Given the description of an element on the screen output the (x, y) to click on. 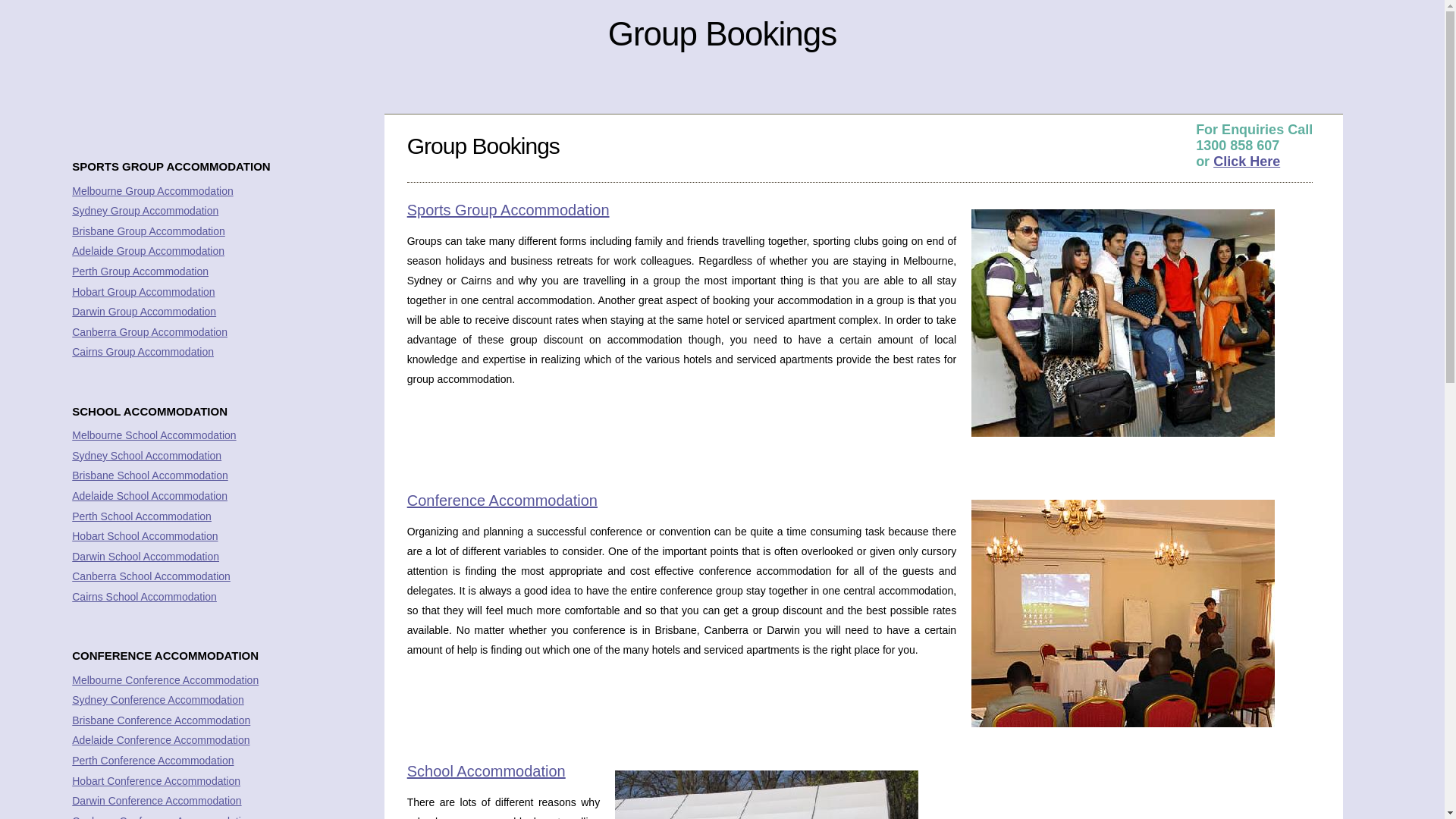
Brisbane Group Accommodation Element type: text (148, 231)
Perth Group Accommodation Element type: text (140, 271)
Canberra Group Accommodation Element type: text (149, 332)
Adelaide School Accommodation Element type: text (149, 495)
Cairns Group Accommodation Element type: text (142, 351)
Darwin School Accommodation Element type: text (145, 556)
CONFERENCE ACCOMMODATION Element type: text (165, 655)
SPORTS GROUP ACCOMMODATION Element type: text (170, 166)
Hobart School Accommodation Element type: text (144, 536)
Darwin Conference Accommodation Element type: text (156, 800)
Click Here Element type: text (1246, 161)
Melbourne Conference Accommodation Element type: text (165, 680)
School Accommodation Element type: text (486, 770)
Adelaide Group Accommodation Element type: text (148, 250)
Hobart Group Accommodation Element type: text (143, 291)
Darwin Group Accommodation Element type: text (144, 311)
Sports Group Accommodation Element type: text (508, 209)
SCHOOL ACCOMMODATION Element type: text (149, 410)
Hobart Conference Accommodation Element type: text (156, 781)
Brisbane Conference Accommodation Element type: text (161, 720)
Adelaide Conference Accommodation Element type: text (160, 740)
Perth Conference Accommodation Element type: text (152, 760)
Cairns School Accommodation Element type: text (144, 596)
Canberra School Accommodation Element type: text (151, 576)
Melbourne Group Accommodation Element type: text (152, 191)
Group Bookings Element type: text (722, 33)
Melbourne School Accommodation Element type: text (153, 435)
Brisbane School Accommodation Element type: text (149, 475)
Perth School Accommodation Element type: text (141, 515)
Sydney Group Accommodation Element type: text (145, 210)
Sydney School Accommodation Element type: text (146, 455)
Sydney Conference Accommodation Element type: text (157, 699)
Conference Accommodation Element type: text (502, 500)
